Given the description of an element on the screen output the (x, y) to click on. 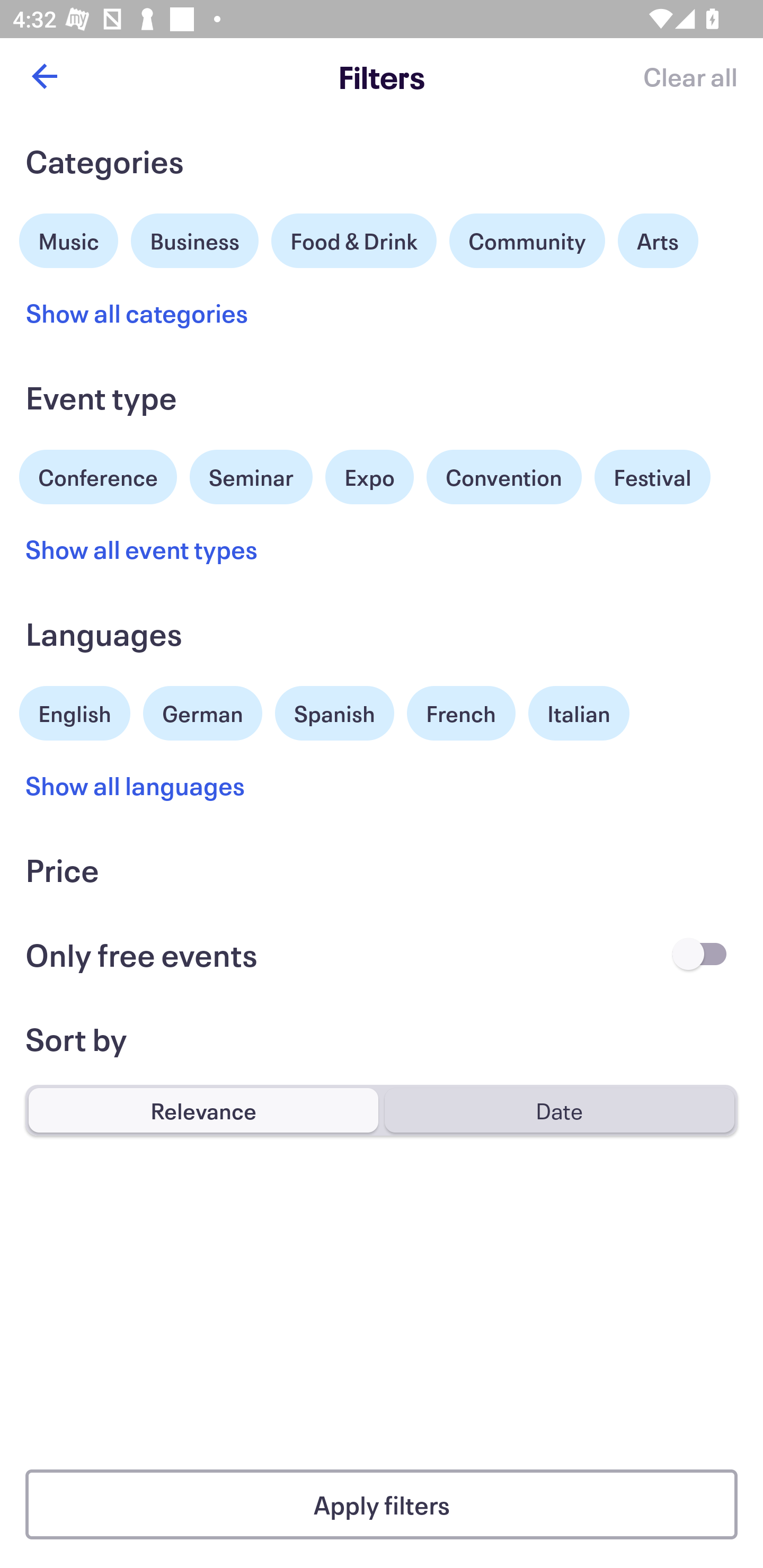
Back button (44, 75)
Clear all (690, 75)
Music (68, 238)
Business (194, 238)
Food & Drink (353, 240)
Community (527, 240)
Arts (658, 240)
Show all categories (136, 312)
Conference (98, 475)
Seminar (250, 477)
Expo (369, 477)
Convention (503, 477)
Festival (652, 477)
Show all event types (141, 548)
English (74, 710)
German (202, 710)
Spanish (334, 713)
French (460, 713)
Italian (578, 713)
Show all languages (135, 784)
Relevance (203, 1109)
Date (559, 1109)
Apply filters (381, 1504)
